Given the description of an element on the screen output the (x, y) to click on. 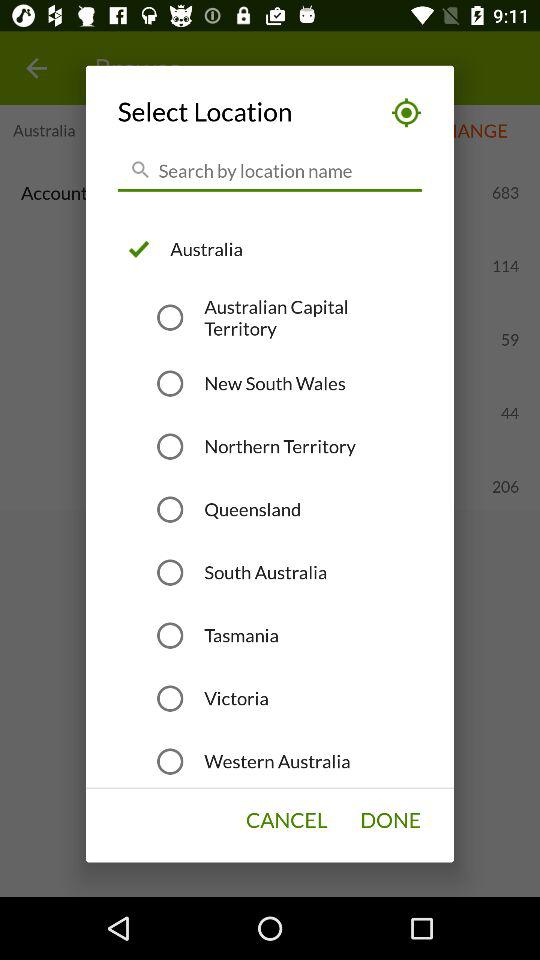
click done icon (390, 820)
